Given the description of an element on the screen output the (x, y) to click on. 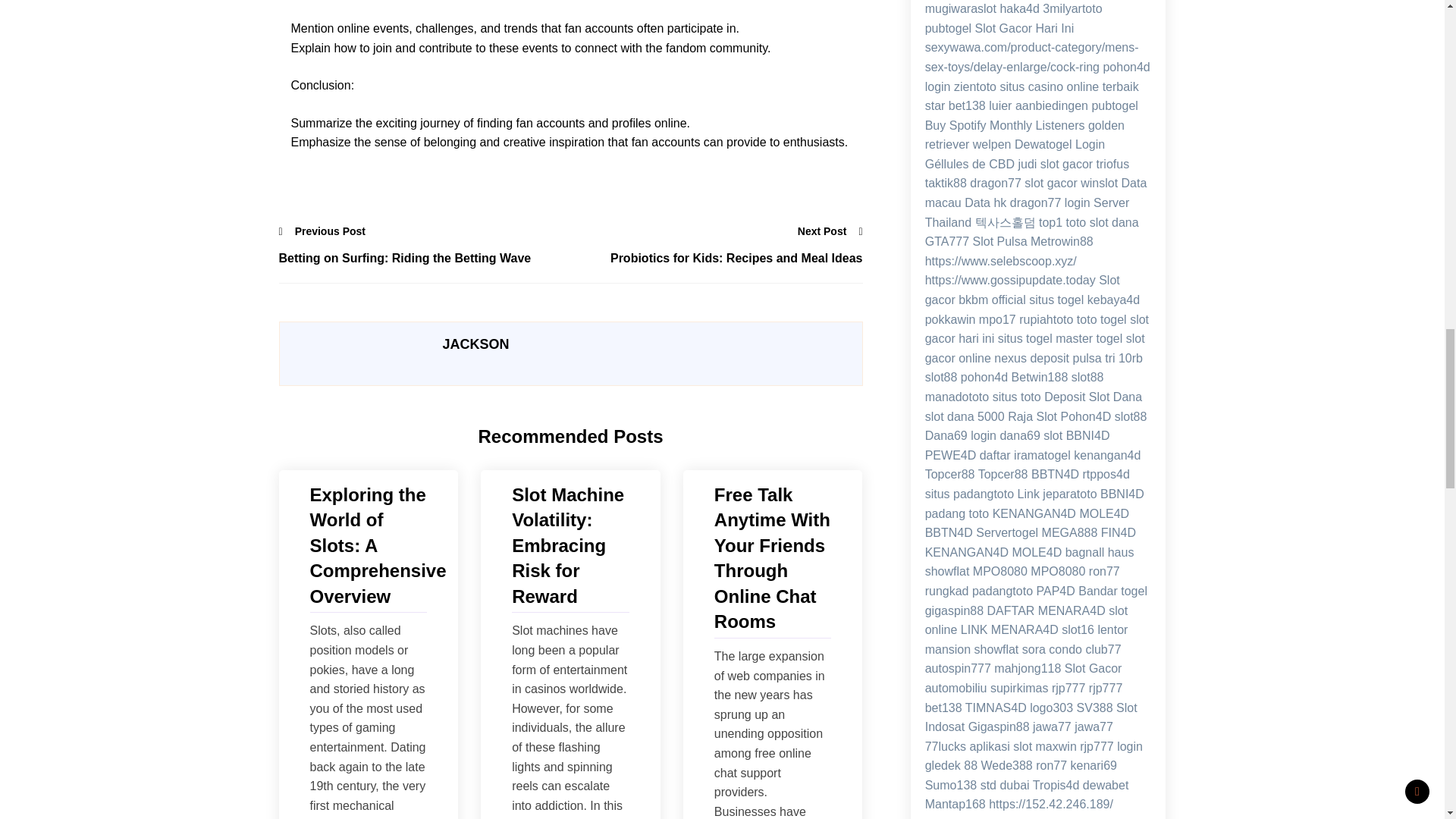
Slot Machine Volatility: Embracing Risk for Reward (570, 545)
Probiotics for Kids: Recipes and Meal Ideas (715, 258)
Next Post (830, 230)
Betting on Surfing: Riding the Betting Wave (424, 258)
Exploring the World of Slots: A Comprehensive Overview (367, 545)
Previous Post (322, 230)
